Given the description of an element on the screen output the (x, y) to click on. 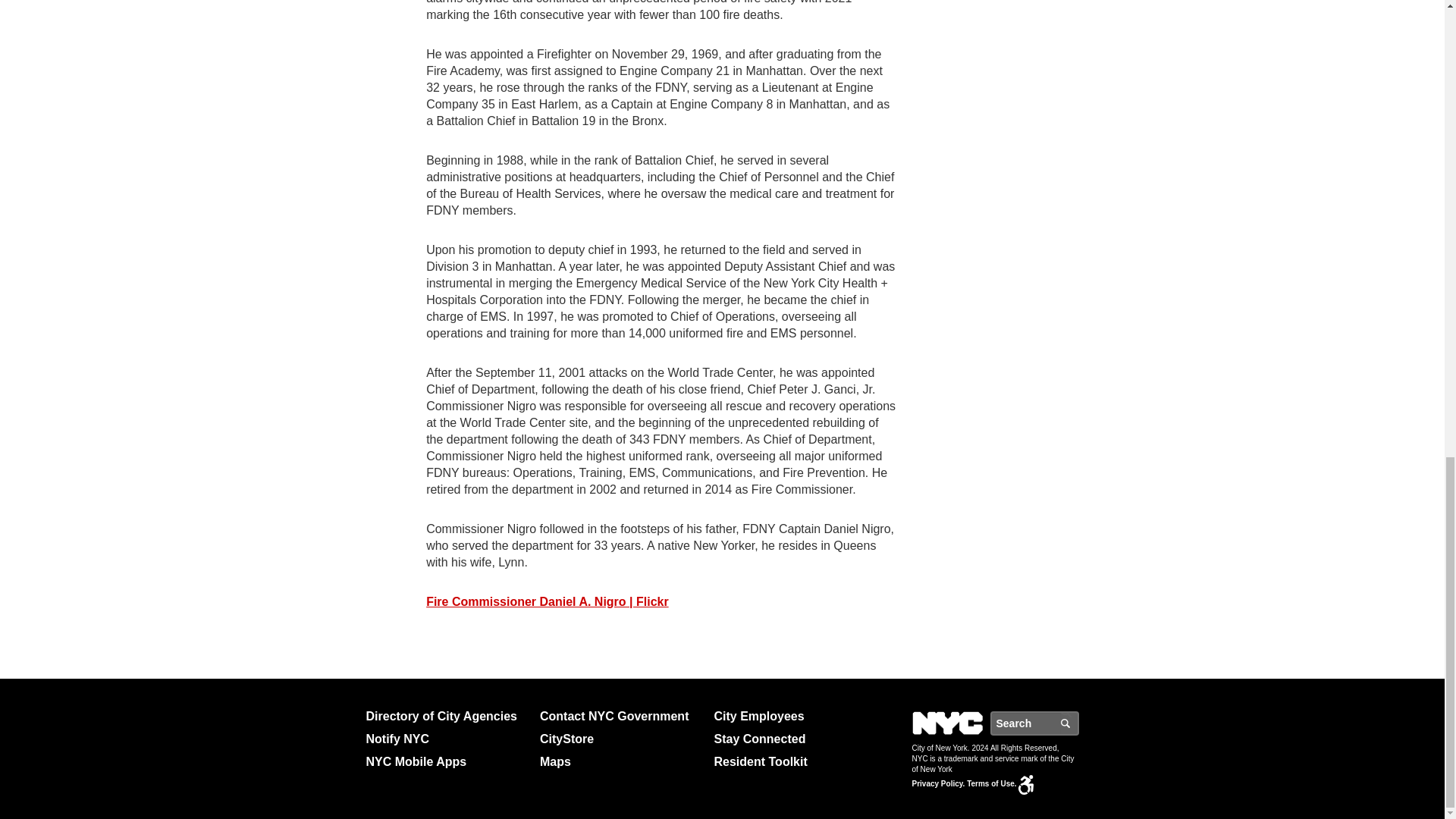
Terms of Use (991, 783)
Contact NYC Government (620, 716)
Directory of City Agencies (446, 716)
Privacy Ploicy  (937, 783)
City Employees (795, 716)
